Given the description of an element on the screen output the (x, y) to click on. 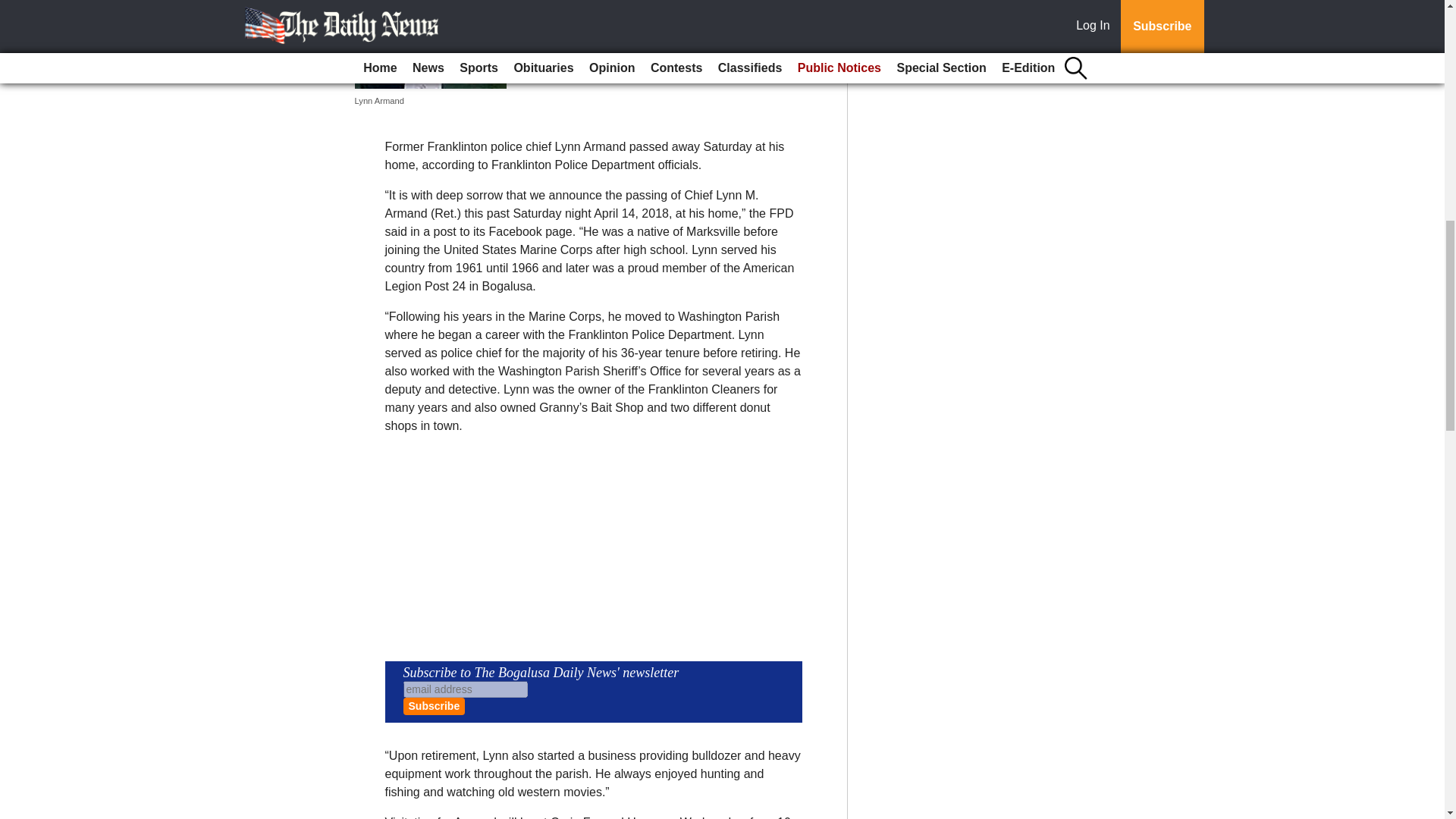
Subscribe (434, 705)
Subscribe (434, 705)
